Given the description of an element on the screen output the (x, y) to click on. 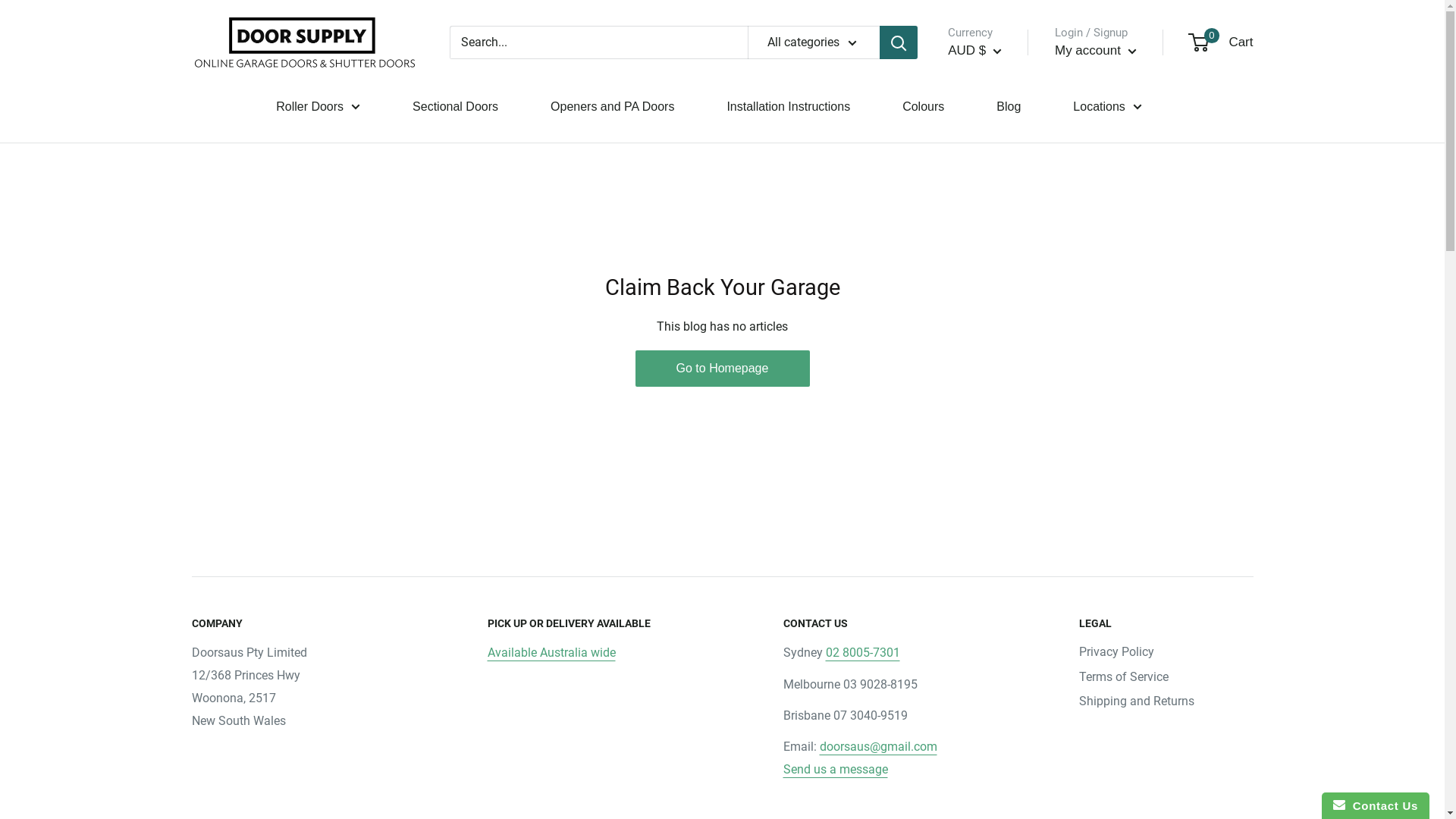
CHF Element type: text (996, 691)
SEK Element type: text (229, 220)
Available Australia wide Element type: text (550, 652)
UZS Element type: text (229, 521)
AUD Element type: text (996, 344)
Roller Doors Element type: text (317, 106)
BND Element type: text (996, 529)
CZK Element type: text (996, 784)
BOB Element type: text (996, 551)
Installation Instructions Element type: text (788, 106)
CONTACT US Element type: text (903, 624)
VUV Element type: text (229, 561)
Terms of Service Element type: text (1165, 677)
ANG Element type: text (996, 320)
AFN Element type: text (996, 251)
SHP Element type: text (229, 260)
CVE Element type: text (996, 760)
02 8005-7301 Element type: text (862, 652)
ALL Element type: text (996, 274)
TOP Element type: text (229, 360)
XCD Element type: text (229, 621)
SAR Element type: text (229, 180)
Colours Element type: text (923, 106)
Locations Element type: text (1107, 106)
UGX Element type: text (229, 460)
TJS Element type: text (229, 340)
Send us a message Element type: text (834, 769)
Privacy Policy Element type: text (1165, 652)
Go to Homepage Element type: text (722, 368)
PLN Element type: text (229, 59)
YER Element type: text (229, 681)
STD Element type: text (229, 299)
Blog Element type: text (1008, 106)
TZS Element type: text (229, 420)
AMD Element type: text (996, 297)
WST Element type: text (229, 581)
RSD Element type: text (229, 139)
AWG Element type: text (996, 366)
UAH Element type: text (229, 440)
SBD Element type: text (229, 199)
BSD Element type: text (996, 575)
SLL Element type: text (229, 280)
RWF Element type: text (229, 159)
My account Element type: text (1095, 50)
RON Element type: text (229, 119)
VND Element type: text (229, 541)
BIF Element type: text (996, 505)
BBD Element type: text (996, 436)
LEGAL Element type: text (1165, 624)
PYG Element type: text (229, 79)
UYU Element type: text (229, 500)
BGN Element type: text (996, 482)
0
Cart Element type: text (1221, 42)
BZD Element type: text (996, 621)
PHP Element type: text (229, 19)
PICK UP OR DELIVERY AVAILABLE Element type: text (607, 624)
Shipping and Returns Element type: text (1165, 701)
AZN Element type: text (996, 390)
USD Element type: text (229, 481)
CAD Element type: text (996, 645)
Openers and PA Doors Element type: text (612, 106)
BWP Element type: text (996, 598)
XPF Element type: text (229, 661)
Sectional Doors Element type: text (455, 106)
THB Element type: text (229, 320)
TWD Element type: text (229, 400)
BDT Element type: text (996, 459)
CRC Element type: text (996, 737)
AUD $ Element type: text (974, 50)
SGD Element type: text (229, 240)
TTD Element type: text (229, 380)
PKR Element type: text (229, 39)
XOF Element type: text (229, 641)
BAM Element type: text (996, 413)
doorsaus@gmail.com Element type: text (877, 746)
Door Supply Element type: text (304, 42)
AED Element type: text (996, 228)
COMPANY Element type: text (312, 624)
QAR Element type: text (229, 99)
XAF Element type: text (229, 600)
CDF Element type: text (996, 667)
CNY Element type: text (996, 714)
